Given the description of an element on the screen output the (x, y) to click on. 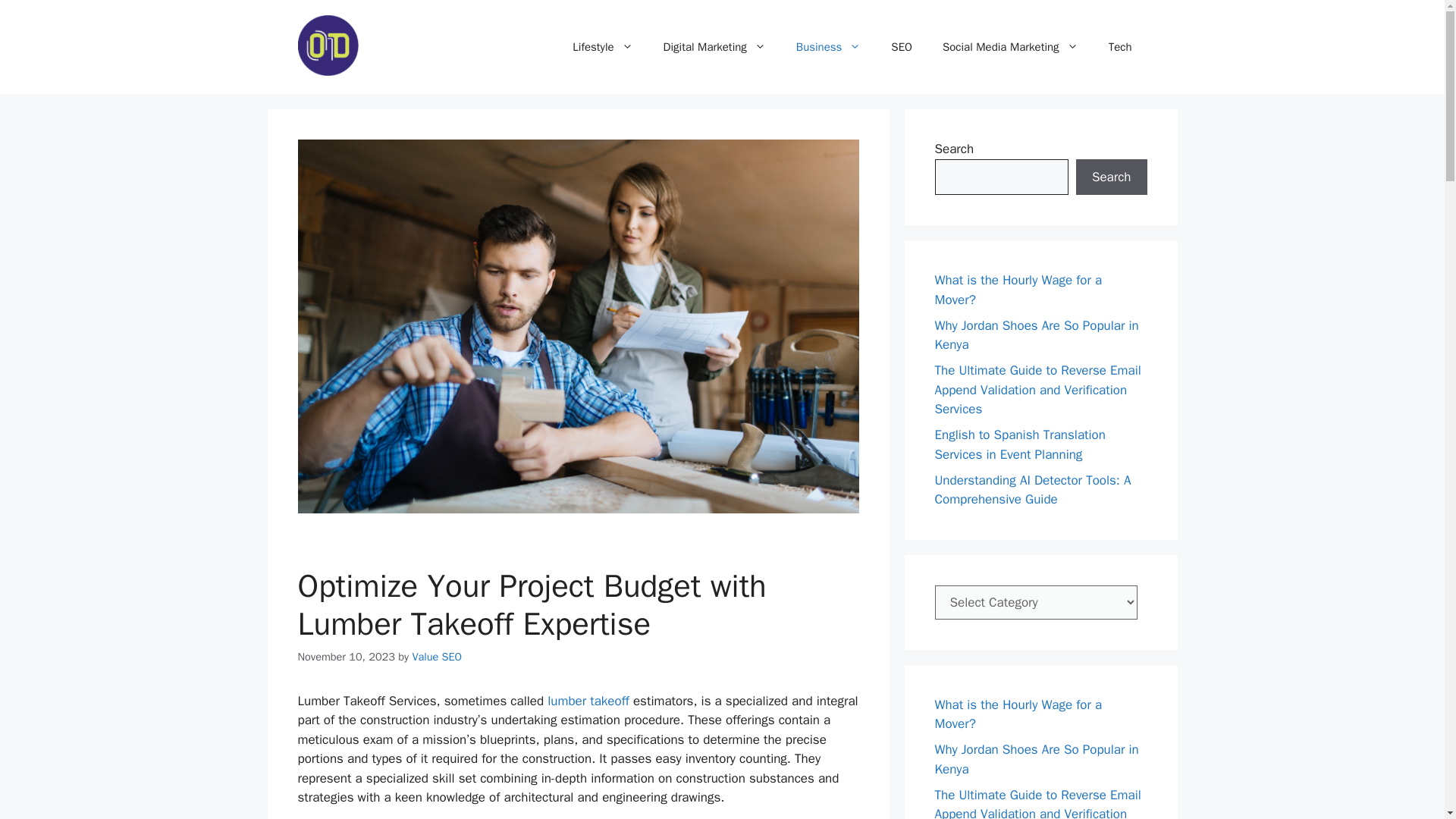
Understanding AI Detector Tools: A Comprehensive Guide (1032, 488)
View all posts by Value SEO (436, 656)
What is the Hourly Wage for a Mover? (1018, 714)
Social Media Marketing (1010, 46)
Digital Marketing (713, 46)
lumber takeoff (587, 700)
English to Spanish Translation Services in Event Planning (1019, 444)
What is the Hourly Wage for a Mover? (1018, 289)
Lifestyle (602, 46)
Why Jordan Shoes Are So Popular in Kenya (1036, 334)
Business (828, 46)
Why Jordan Shoes Are So Popular in Kenya (1036, 759)
Search (1111, 176)
